Given the description of an element on the screen output the (x, y) to click on. 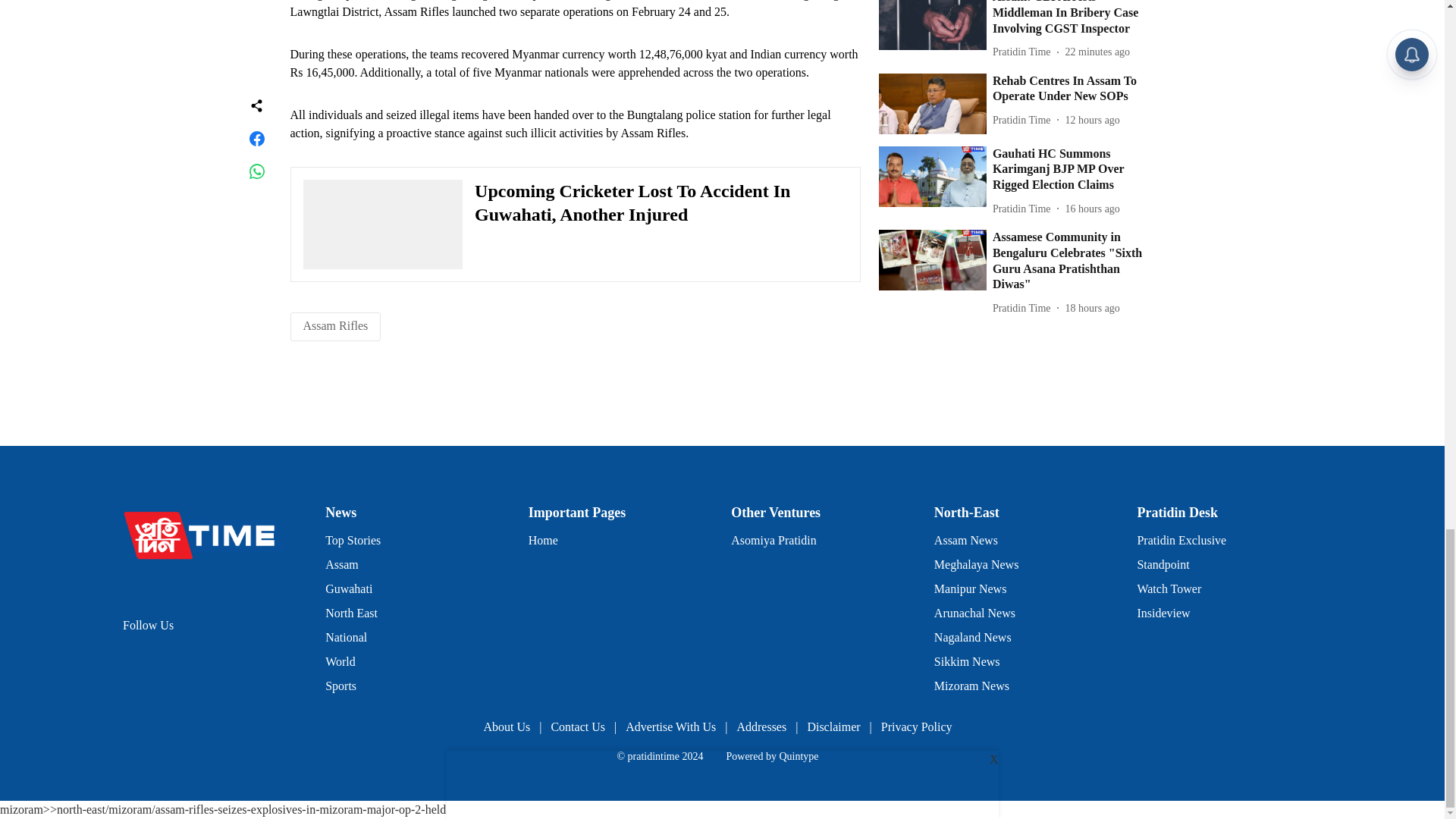
Assam Rifles (335, 325)
